Given the description of an element on the screen output the (x, y) to click on. 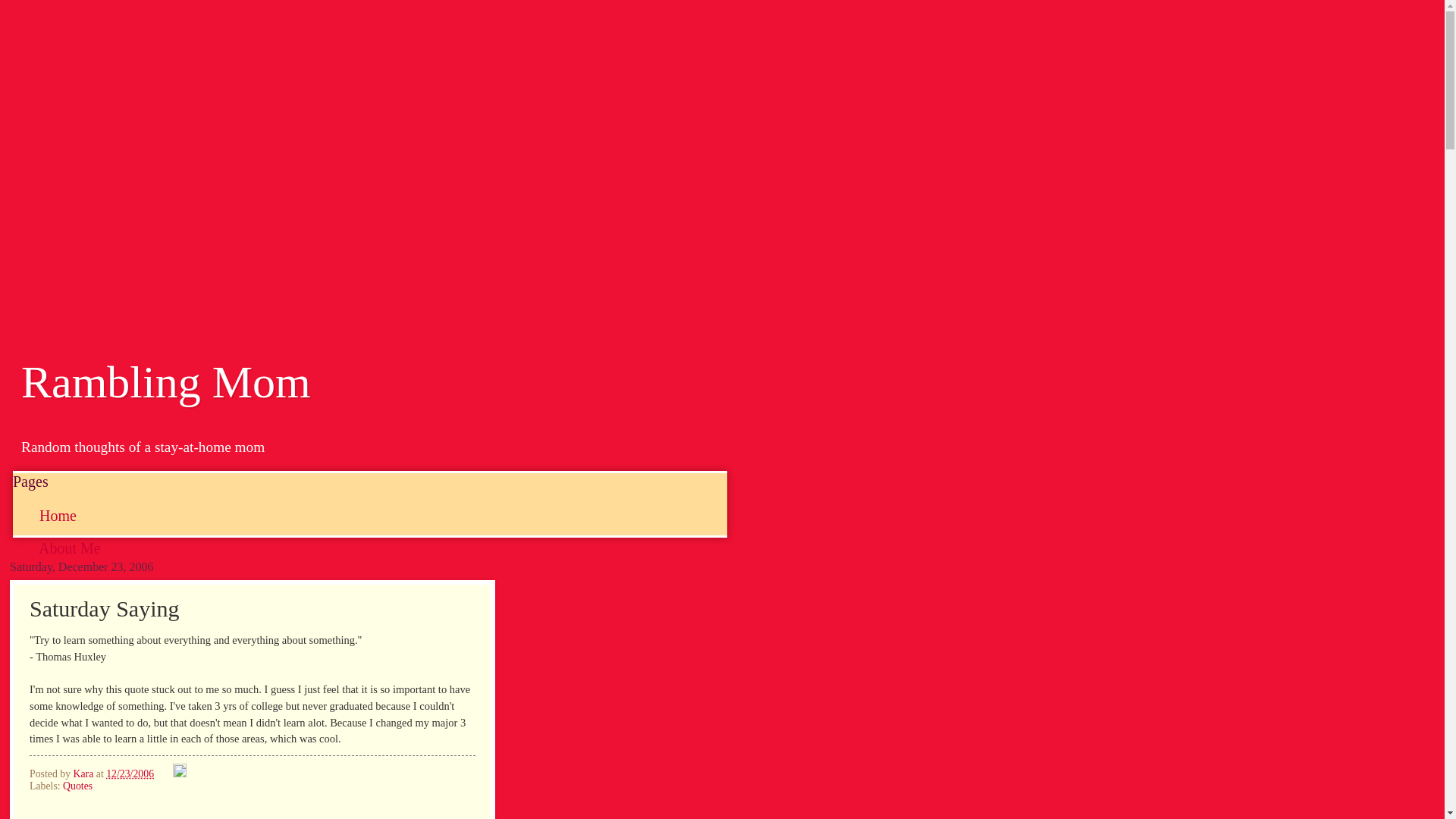
Kara (84, 773)
Quotes (77, 785)
Email Post (163, 773)
author profile (84, 773)
Rambling Mom (166, 382)
About Me (69, 548)
Edit Post (179, 773)
Home (58, 515)
permanent link (130, 773)
